Given the description of an element on the screen output the (x, y) to click on. 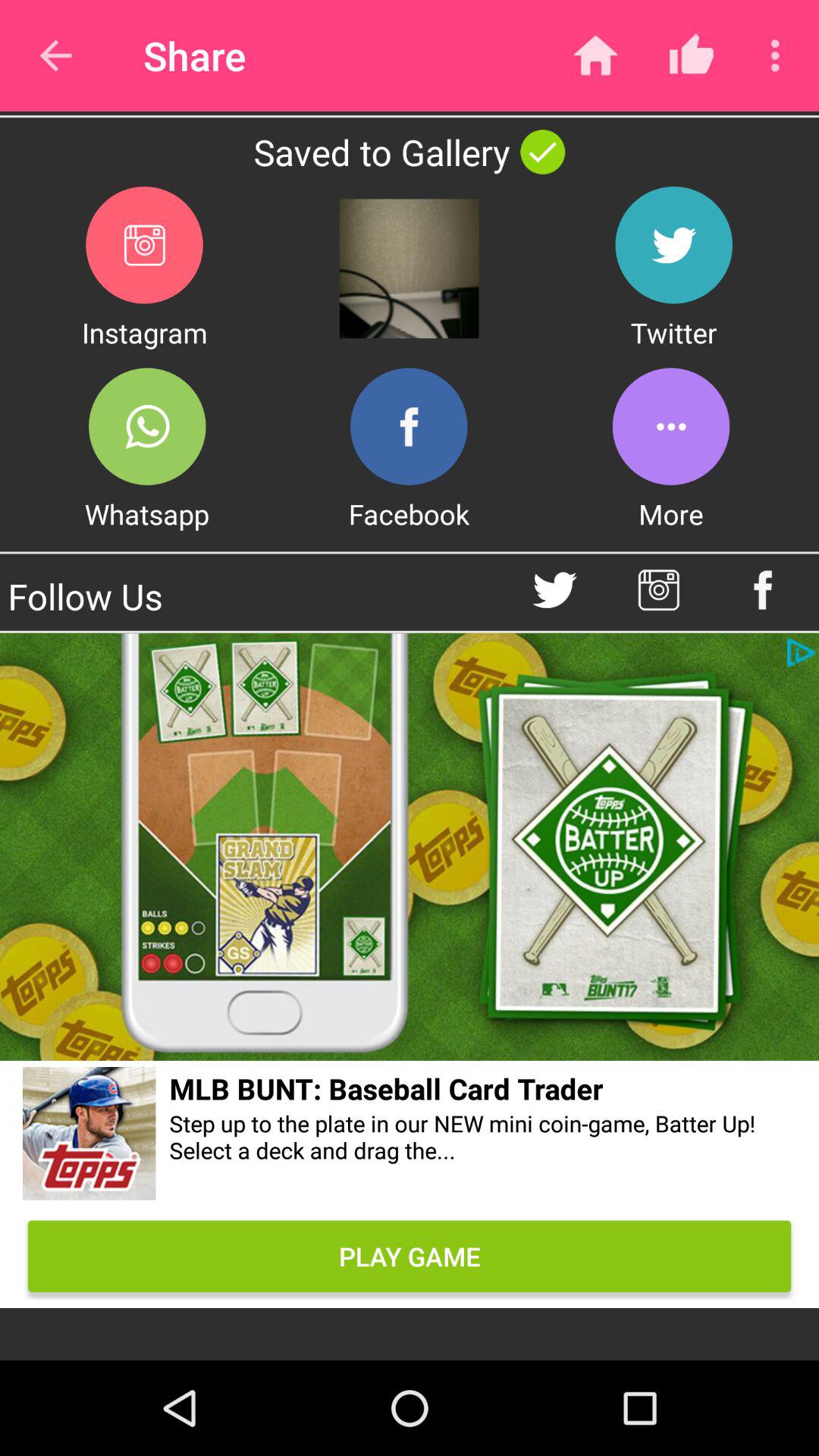
follow on twitter (554, 589)
